Given the description of an element on the screen output the (x, y) to click on. 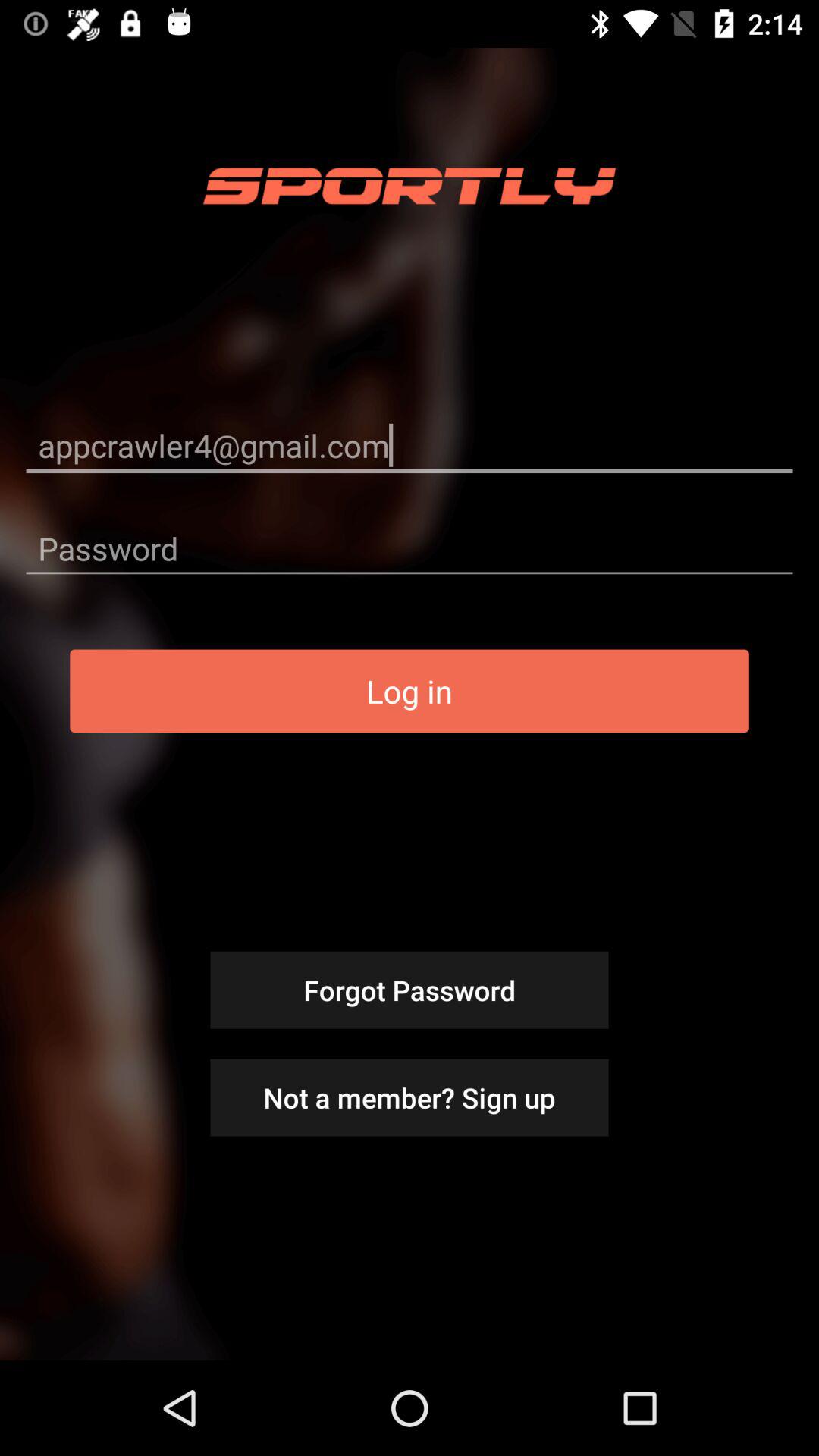
choose icon below log in (409, 989)
